Given the description of an element on the screen output the (x, y) to click on. 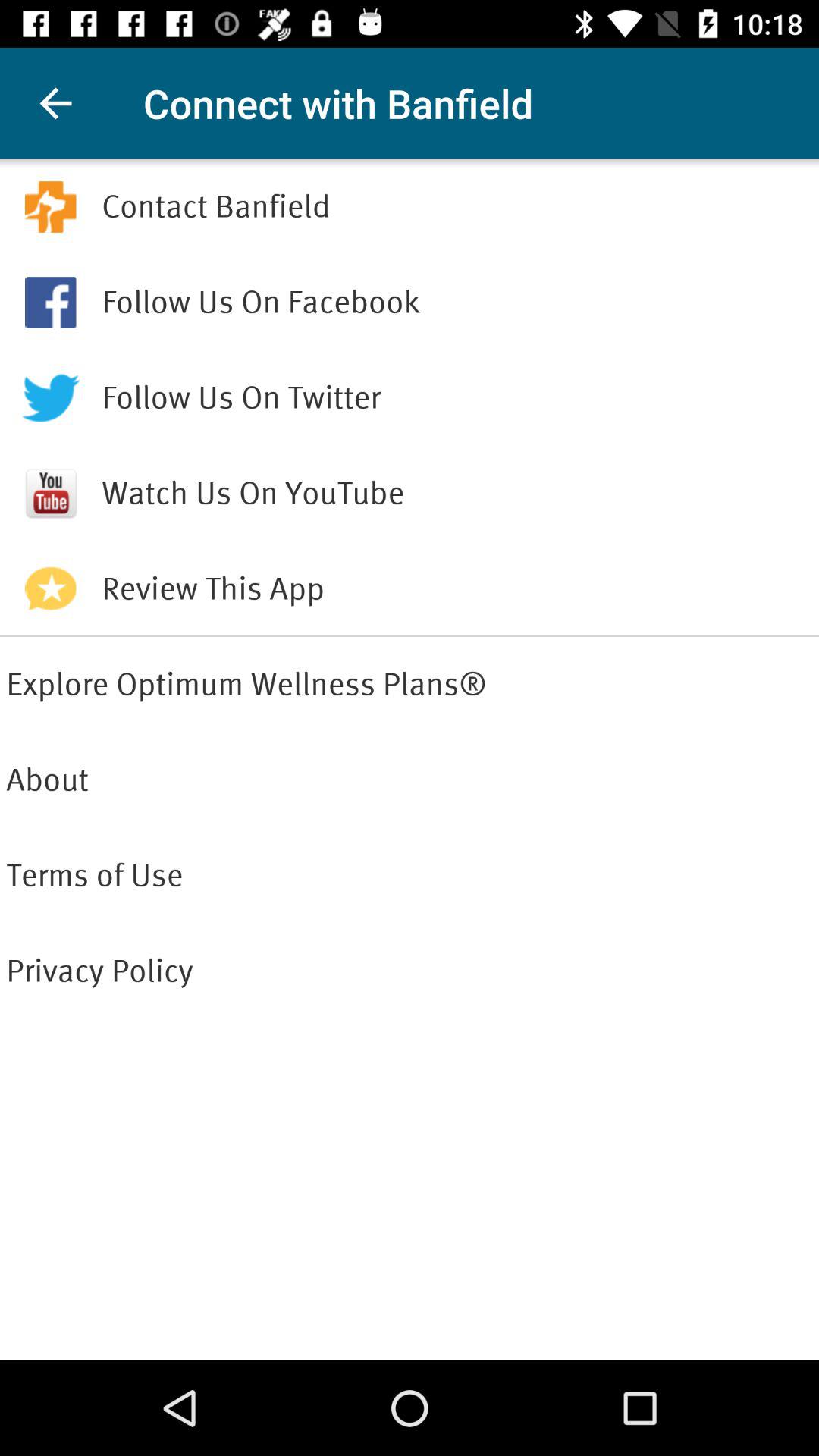
swipe to terms of use icon (409, 875)
